Given the description of an element on the screen output the (x, y) to click on. 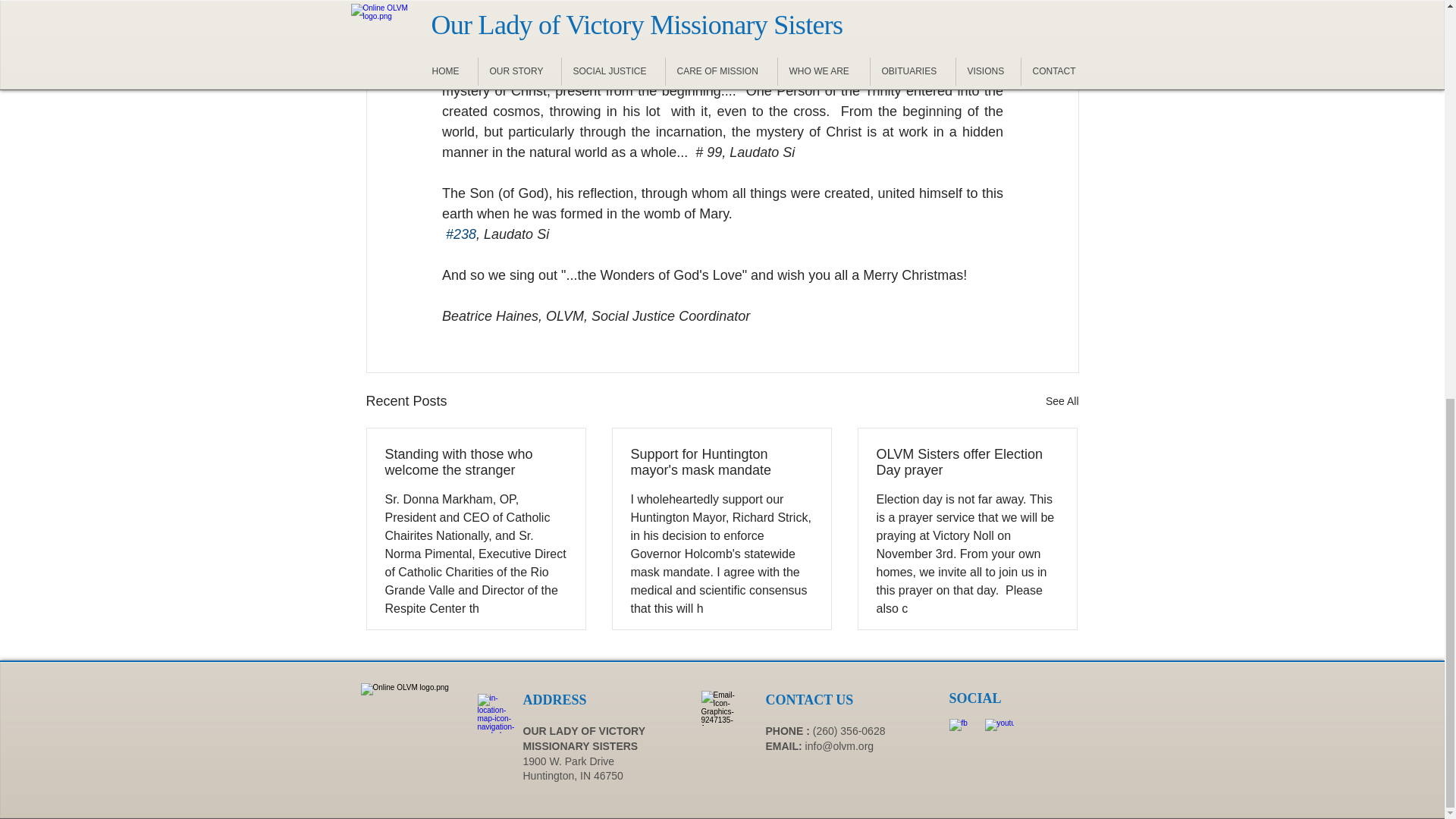
Standing with those who welcome the stranger (476, 462)
See All (1061, 401)
OLVM Sisters offer Election Day prayer (967, 462)
Support for Huntington mayor's mask mandate (721, 462)
ADDRESS (554, 699)
